Given the description of an element on the screen output the (x, y) to click on. 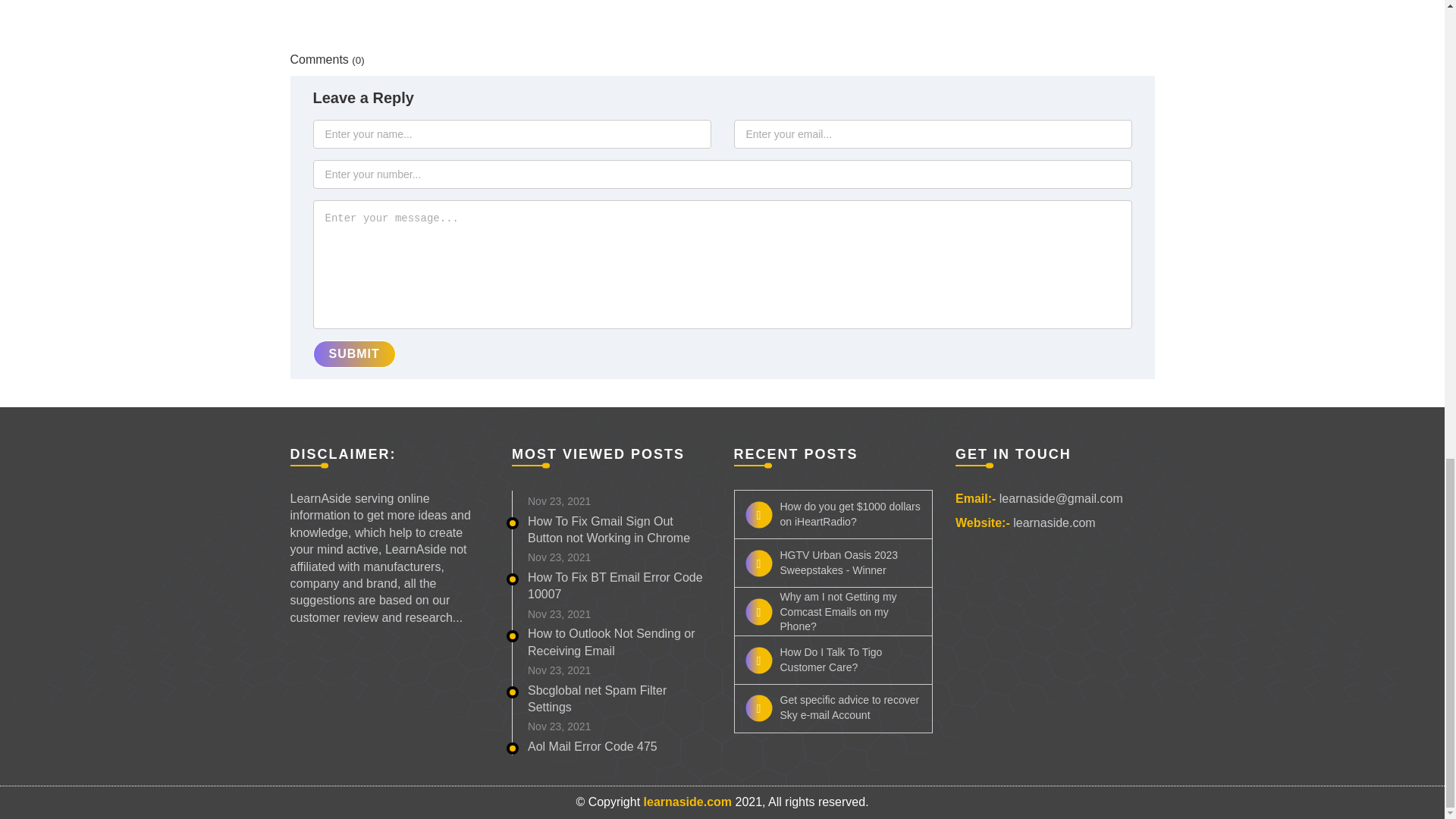
Why am I not Getting my Comcast Emails on my Phone? (833, 611)
How To Fix Gmail Sign Out Button not Working in Chrome (608, 529)
How To Fix BT Email Error Code 10007 (615, 585)
SUBMIT (353, 353)
HGTV Urban Oasis 2023 Sweepstakes - Winner (833, 563)
Aol Mail Error Code 475 (592, 746)
Sbcglobal net Spam Filter Settings (596, 698)
Get specific advice to recover Sky e-mail Account (833, 708)
How Do I Talk To Tigo Customer Care? (833, 659)
learnaside.com (1054, 523)
SUBMIT (545, 409)
How to Outlook Not Sending or Receiving Email (611, 641)
learnaside.com (687, 801)
